Given the description of an element on the screen output the (x, y) to click on. 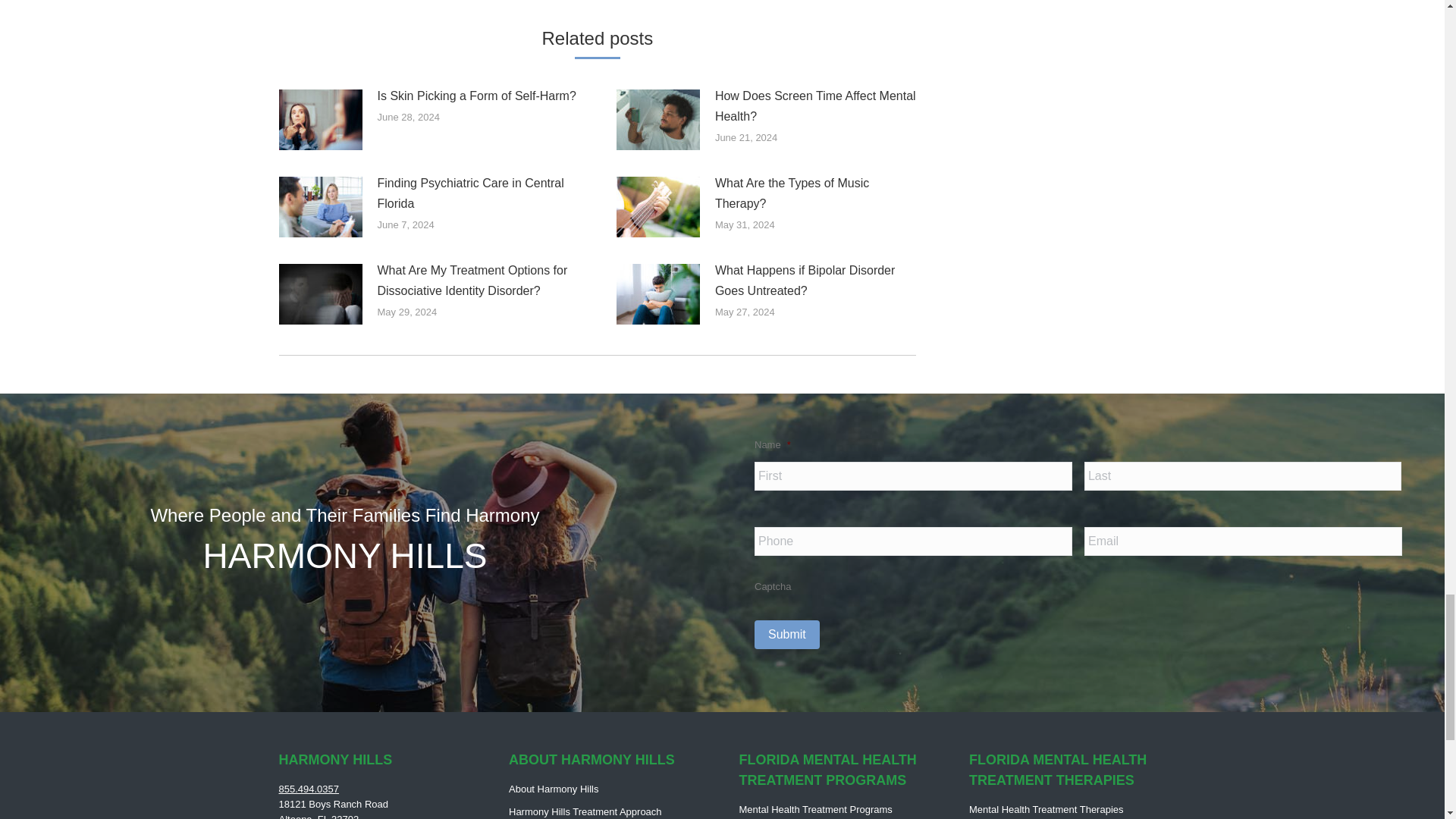
Submit (786, 634)
